Given the description of an element on the screen output the (x, y) to click on. 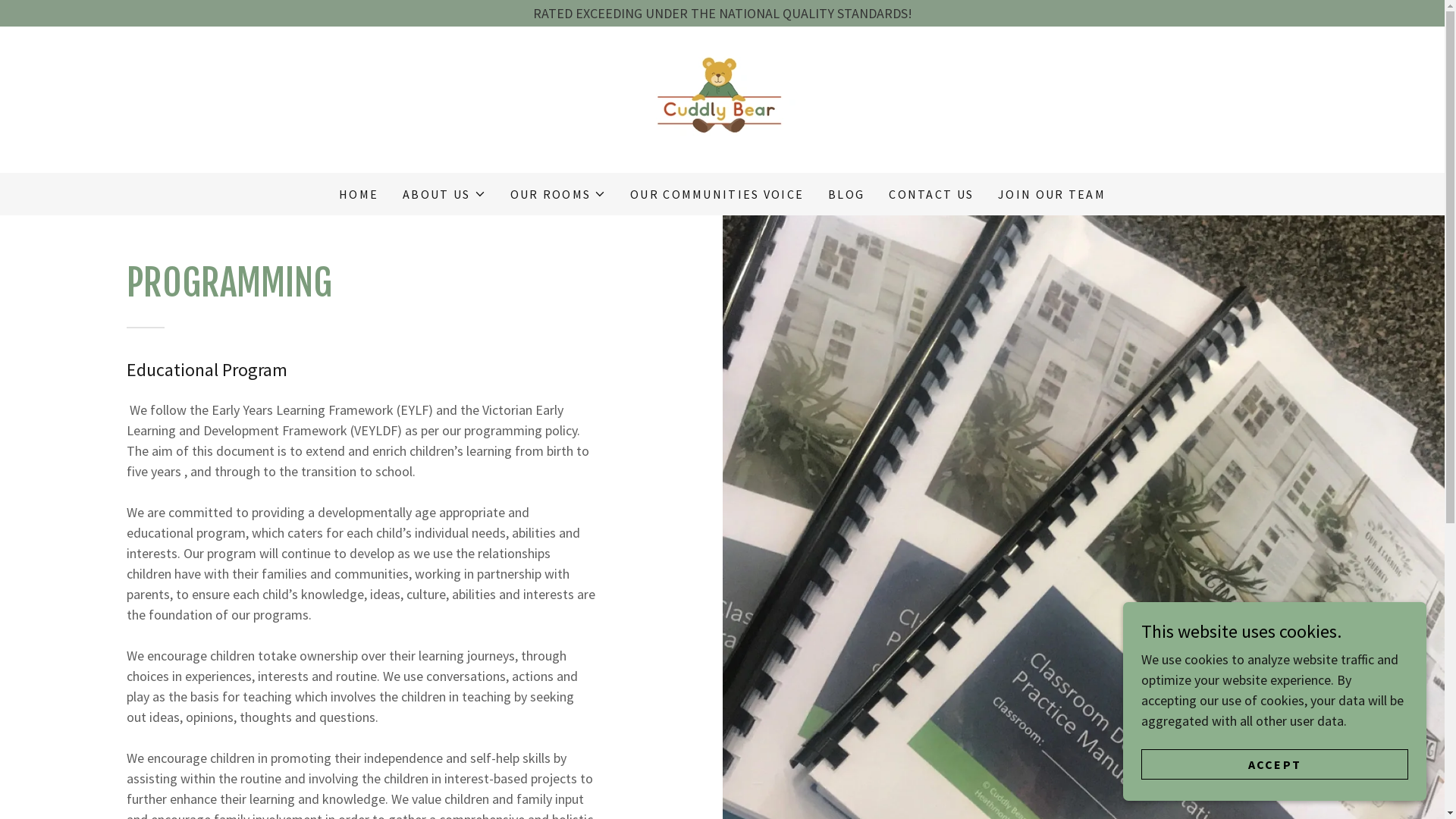
BLOG Element type: text (846, 193)
Cuddly Bear 
Child Care & Kindergarten Element type: hover (721, 97)
RATED EXCEEDING UNDER THE NATIONAL QUALITY STANDARDS! Element type: text (722, 13)
OUR COMMUNITIES VOICE Element type: text (716, 193)
JOIN OUR TEAM Element type: text (1051, 193)
CONTACT US Element type: text (931, 193)
ABOUT US Element type: text (443, 194)
OUR ROOMS Element type: text (557, 194)
HOME Element type: text (358, 193)
ACCEPT Element type: text (1274, 764)
